Given the description of an element on the screen output the (x, y) to click on. 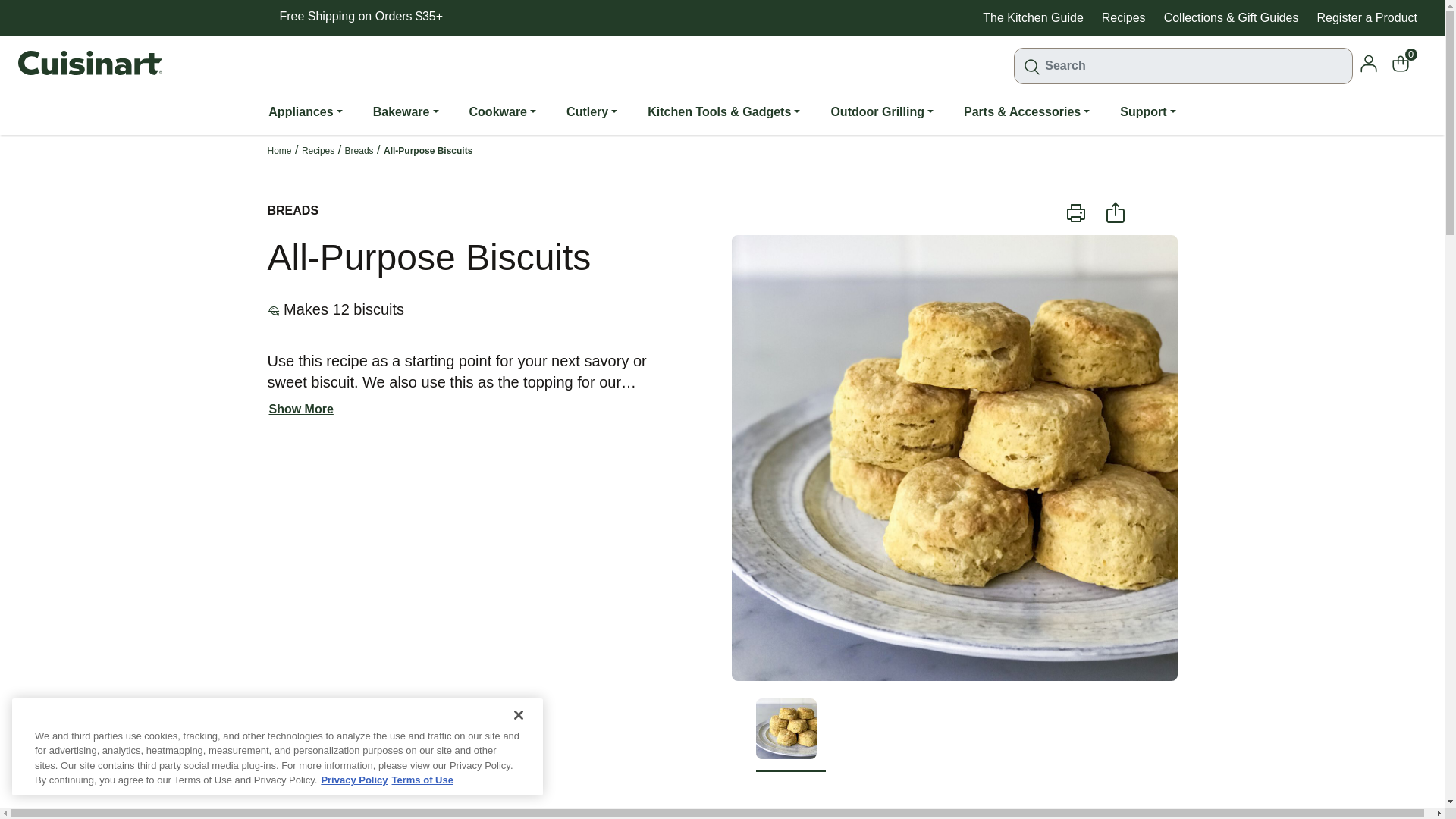
0 (1408, 62)
Recipes (1123, 17)
US Cuisinart Home (89, 62)
Cart 0 Items (1408, 62)
Register a Product (1366, 17)
Appliances (304, 111)
The Kitchen Guide (1033, 17)
